Given the description of an element on the screen output the (x, y) to click on. 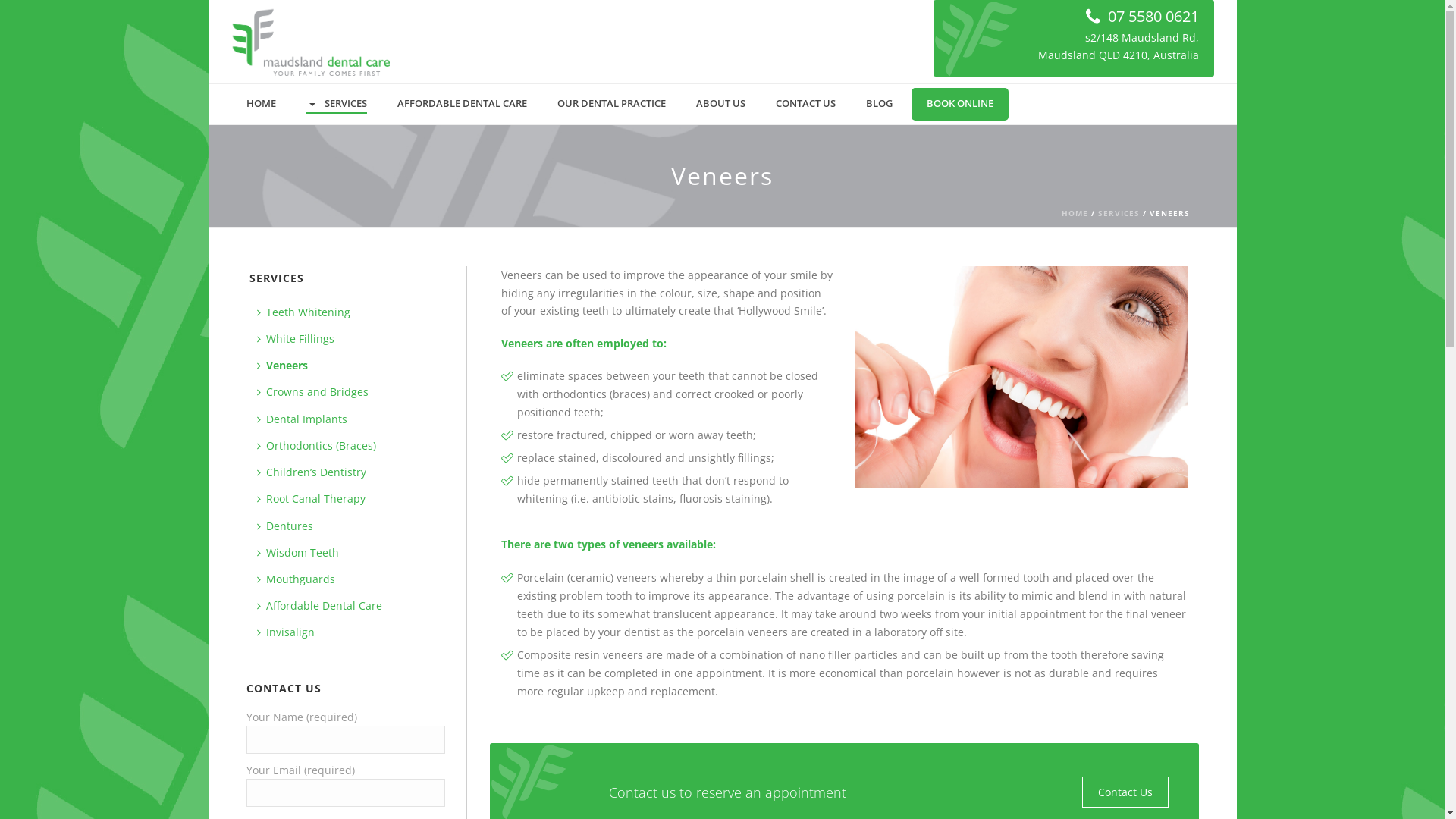
HOME Element type: text (260, 104)
CONTACT US Element type: text (804, 104)
Teeth Whitening Element type: text (302, 311)
BOOK ONLINE Element type: text (959, 103)
Dental Implants Element type: text (301, 418)
Wisdom Teeth Element type: text (296, 552)
SERVICES Element type: text (336, 104)
Affordable Dental Care Element type: text (318, 605)
Mouthguards Element type: text (295, 578)
ABOUT US Element type: text (720, 104)
Orthodontics (Braces) Element type: text (315, 445)
AFFORDABLE DENTAL CARE Element type: text (462, 104)
Maudsland Dental Care Element type: hover (309, 41)
Dentures Element type: text (284, 525)
Veneers Element type: hover (1020, 376)
OUR DENTAL PRACTICE Element type: text (610, 104)
Root Canal Therapy Element type: text (310, 498)
SERVICES Element type: text (1118, 212)
BLOG Element type: text (878, 104)
White Fillings Element type: text (294, 338)
Invisalign Element type: text (284, 631)
HOME Element type: text (1074, 212)
07 5580 0621 Element type: text (1141, 16)
Crowns and Bridges Element type: text (311, 391)
Veneers Element type: text (281, 364)
Contact Us Element type: text (1124, 791)
